Given the description of an element on the screen output the (x, y) to click on. 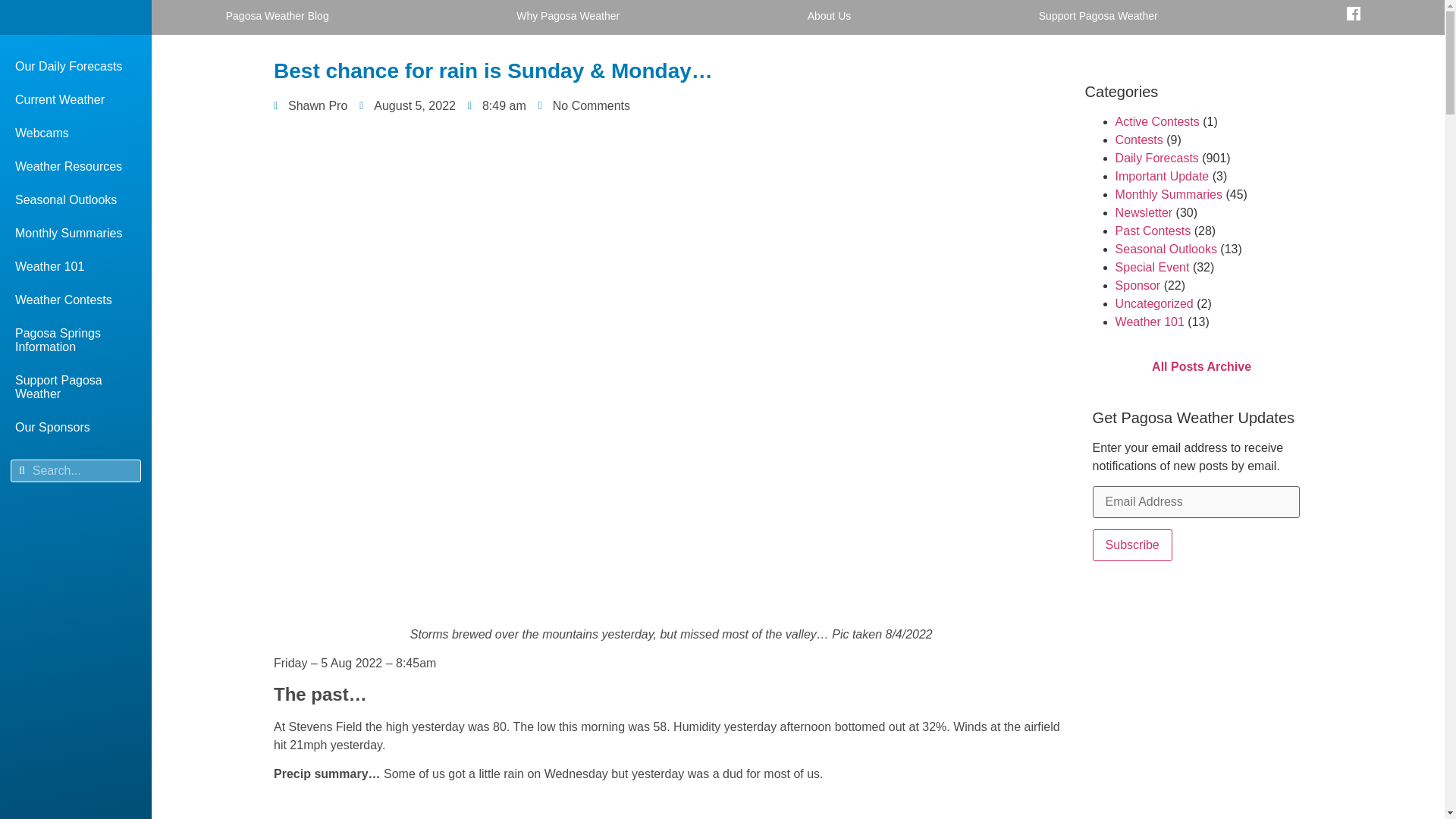
Our Daily Forecasts (75, 66)
Webcams (75, 133)
Weather Resources (75, 166)
Current Weather (75, 100)
